Given the description of an element on the screen output the (x, y) to click on. 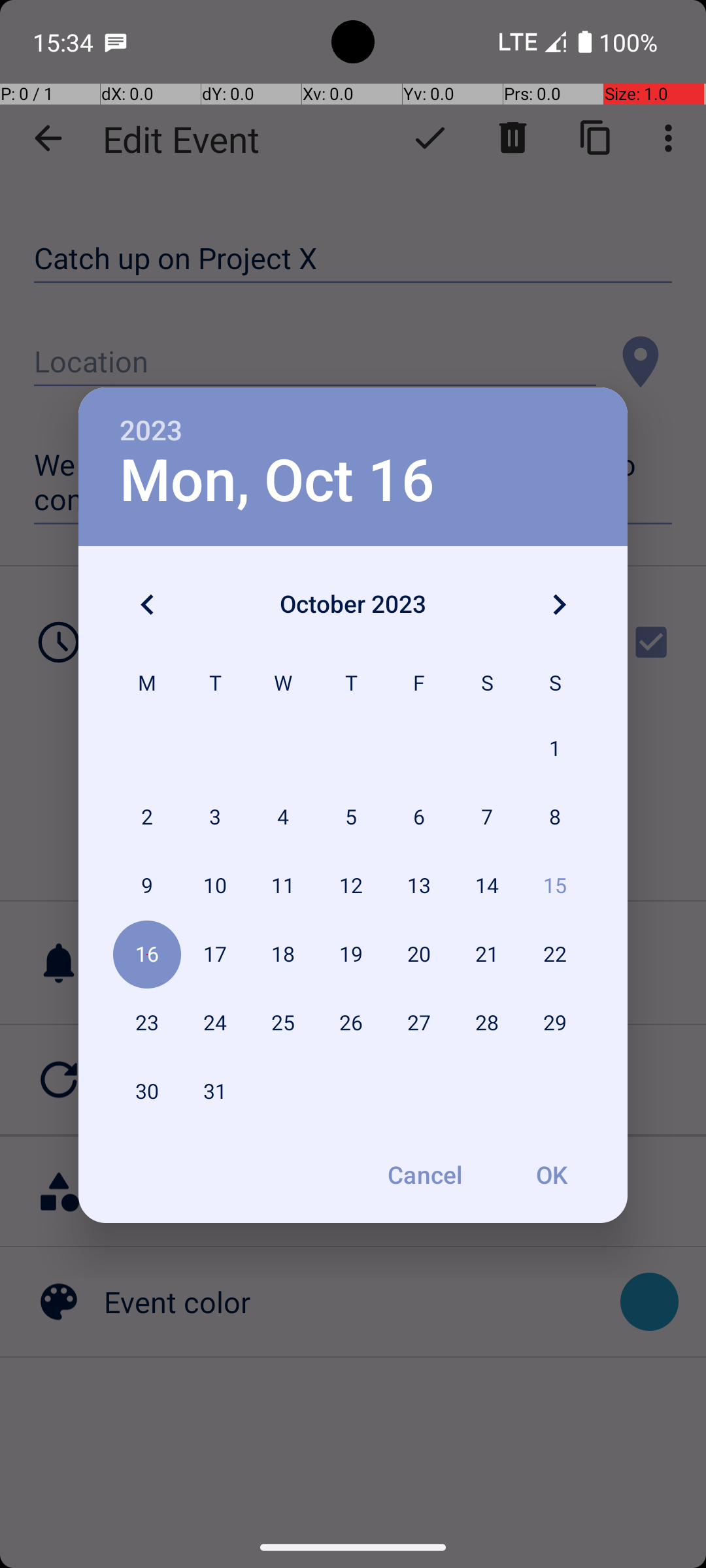
Mon, Oct 16 Element type: android.widget.TextView (276, 480)
